Given the description of an element on the screen output the (x, y) to click on. 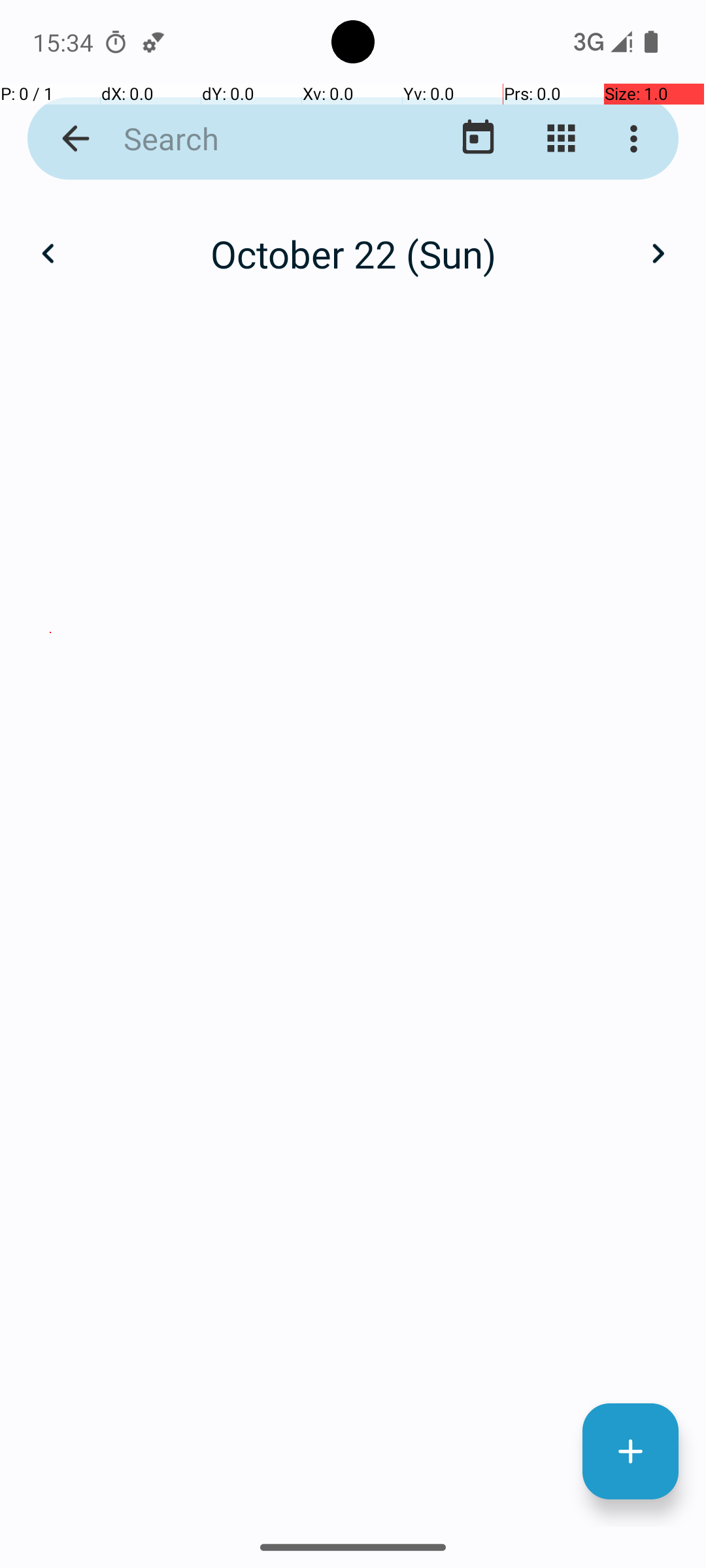
October 22 (Sun) Element type: android.widget.TextView (352, 253)
